Given the description of an element on the screen output the (x, y) to click on. 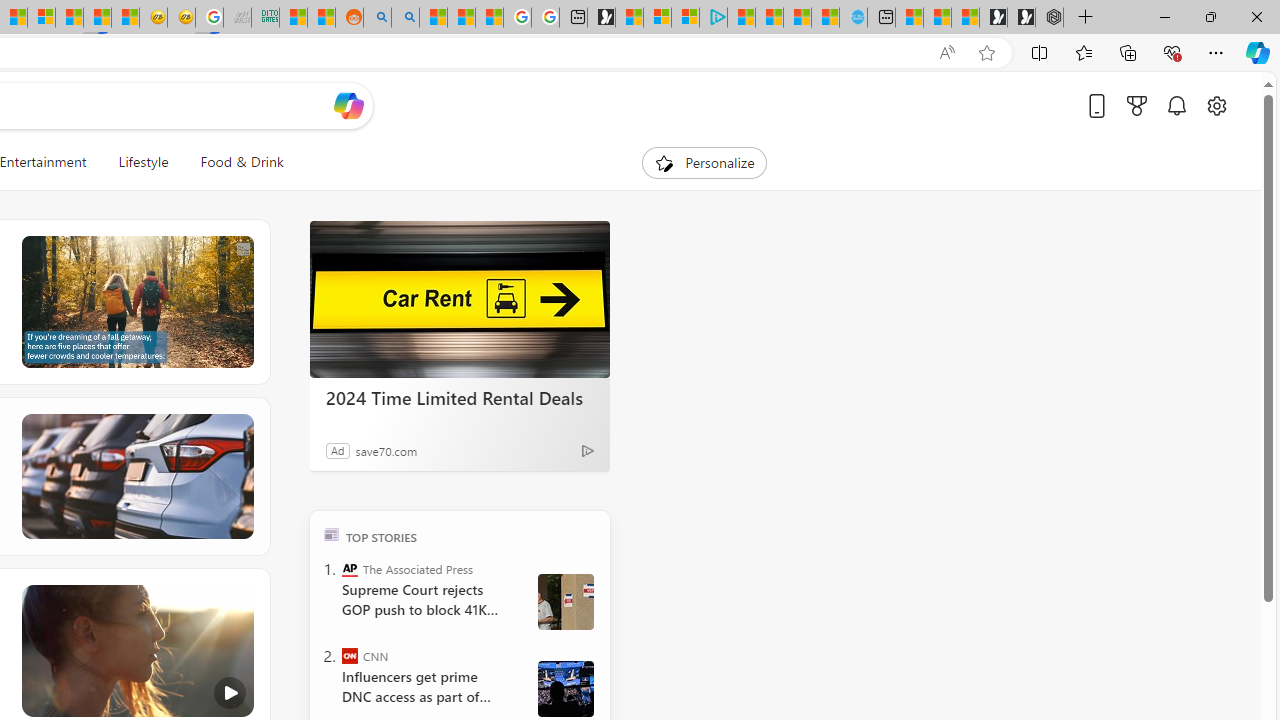
TOP (331, 534)
 ATS_2336.jpg (565, 688)
Class: hero-image (136, 650)
The Associated Press (349, 568)
